Given the description of an element on the screen output the (x, y) to click on. 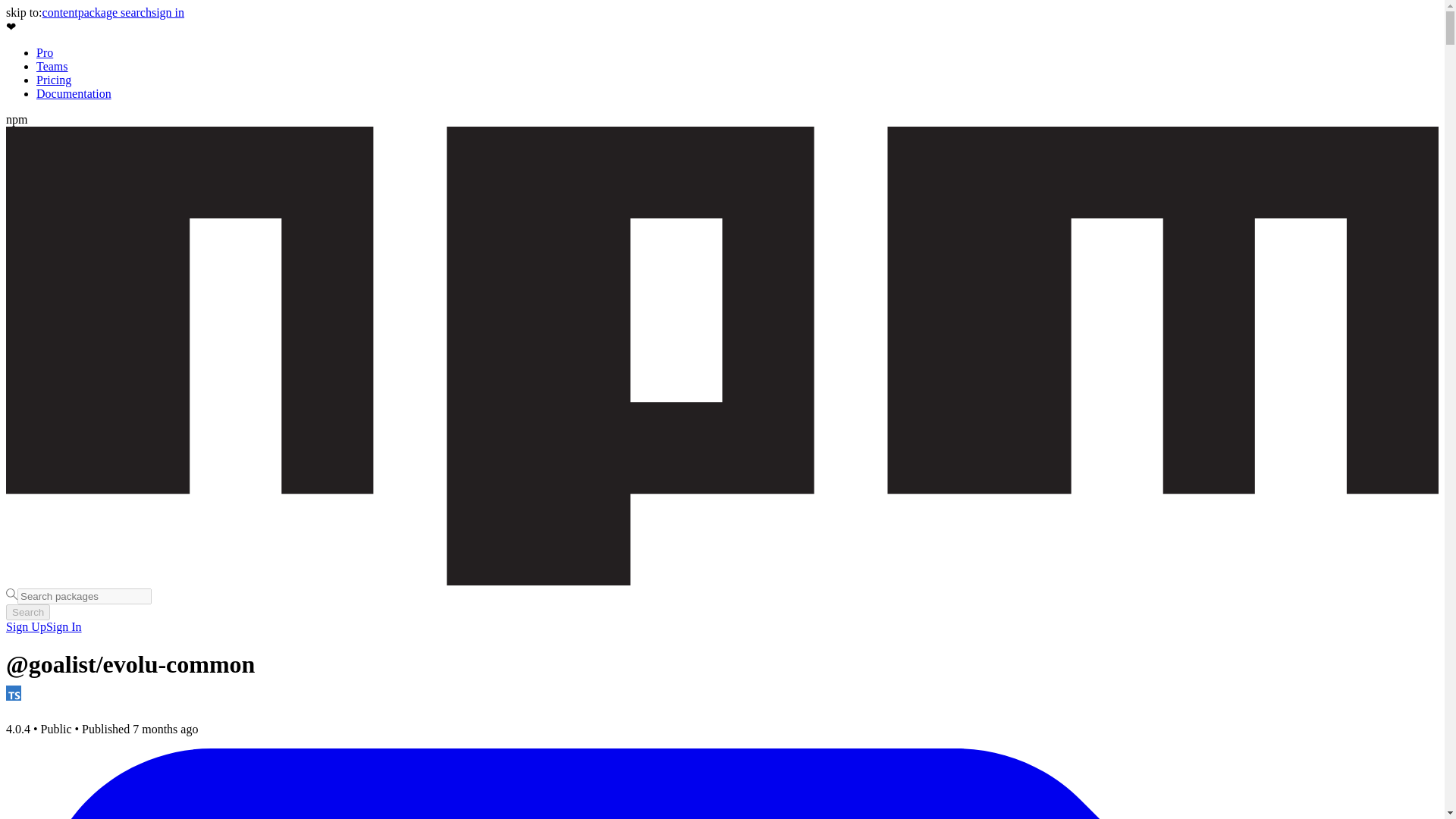
This package contains built-in TypeScript declarations (13, 693)
Pro (44, 51)
Sign In (63, 626)
Documentation (74, 92)
Search (27, 611)
Teams (52, 65)
Pricing (53, 79)
package search (114, 11)
Sign Up (25, 626)
sign in (167, 11)
content (60, 11)
